Given the description of an element on the screen output the (x, y) to click on. 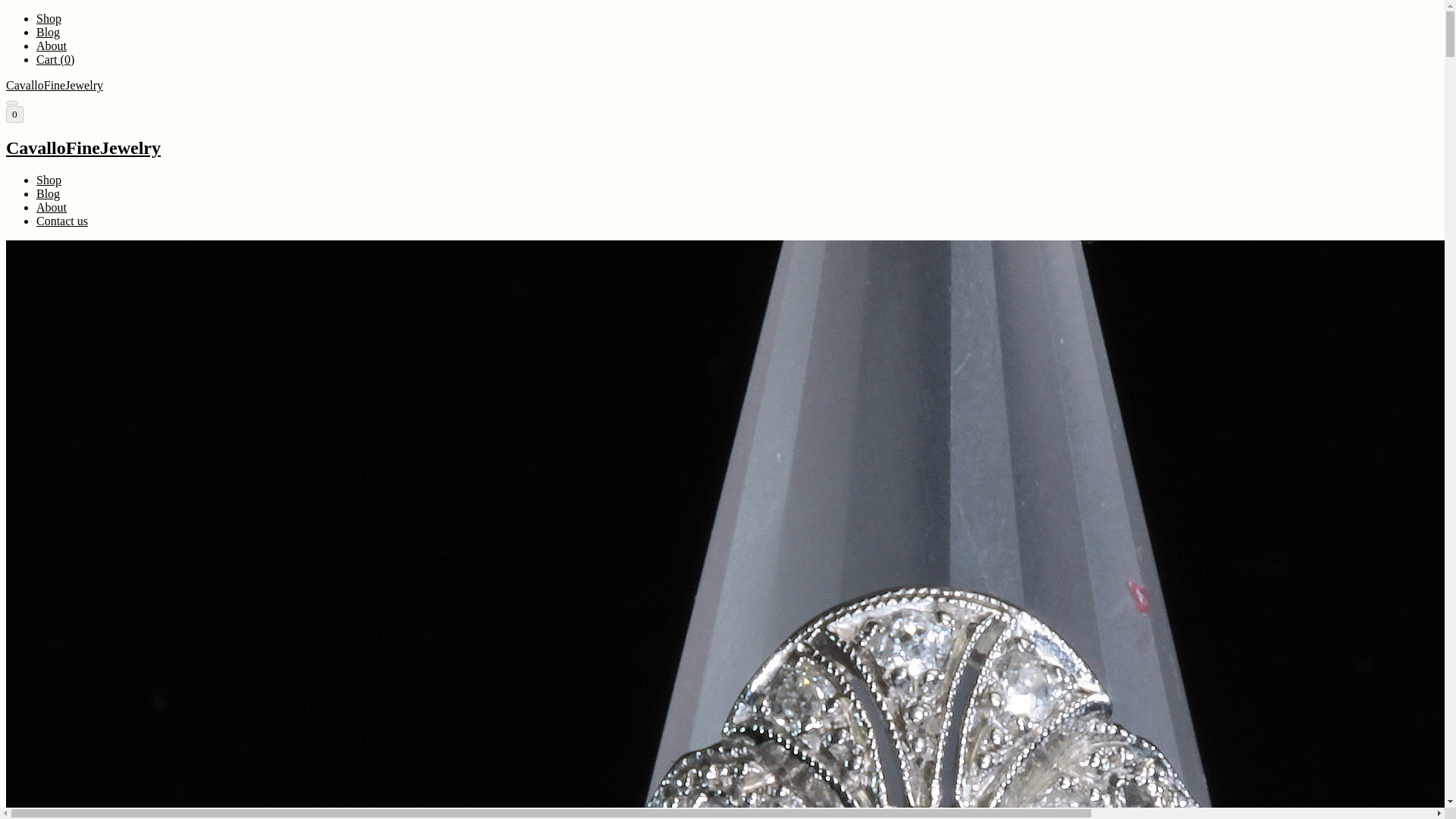
0 (14, 114)
Blog (47, 193)
About (51, 45)
Shop (48, 179)
Blog (47, 31)
CavalloFineJewelry (721, 148)
Contact us (61, 220)
About (51, 206)
Shop (48, 18)
